Given the description of an element on the screen output the (x, y) to click on. 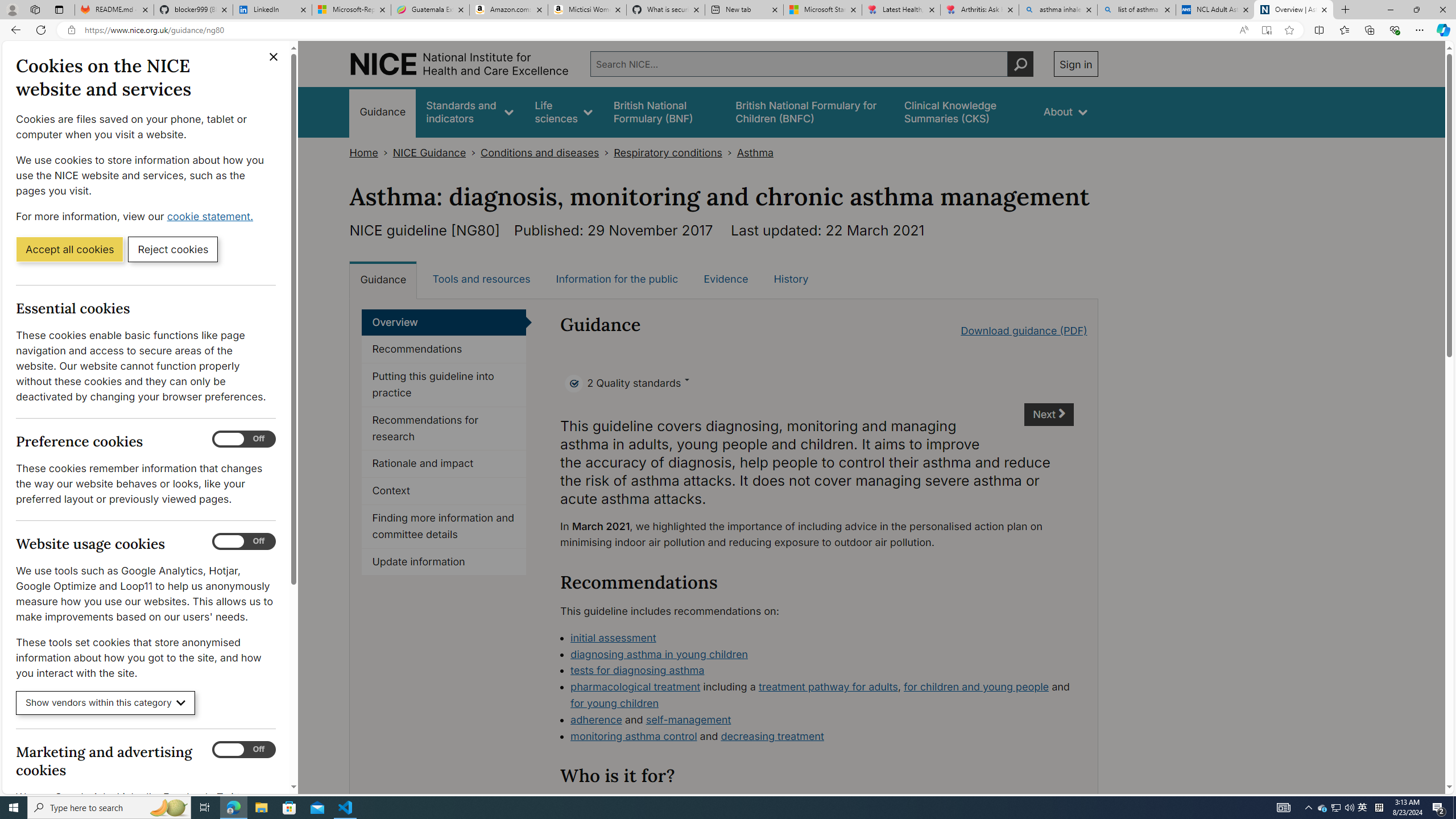
Update information (444, 561)
Rationale and impact (443, 463)
Life sciences (563, 111)
Recommendations for research (444, 428)
monitoring asthma control (633, 735)
LinkedIn (272, 9)
Rationale and impact (444, 463)
Context (444, 491)
for children and young people (976, 686)
diagnosing asthma in young children (822, 654)
